Given the description of an element on the screen output the (x, y) to click on. 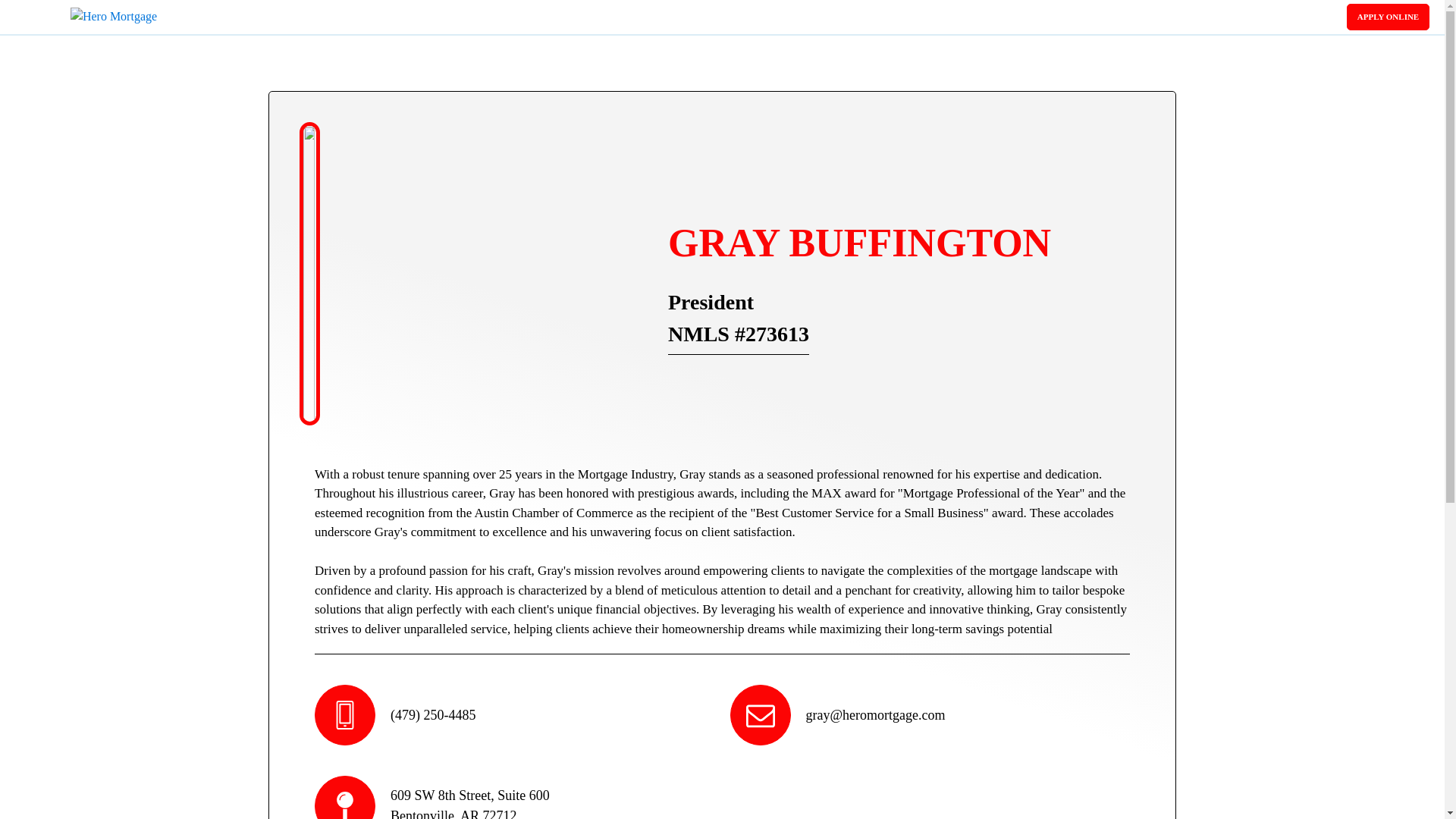
APPLY ONLINE (1387, 17)
